Given the description of an element on the screen output the (x, y) to click on. 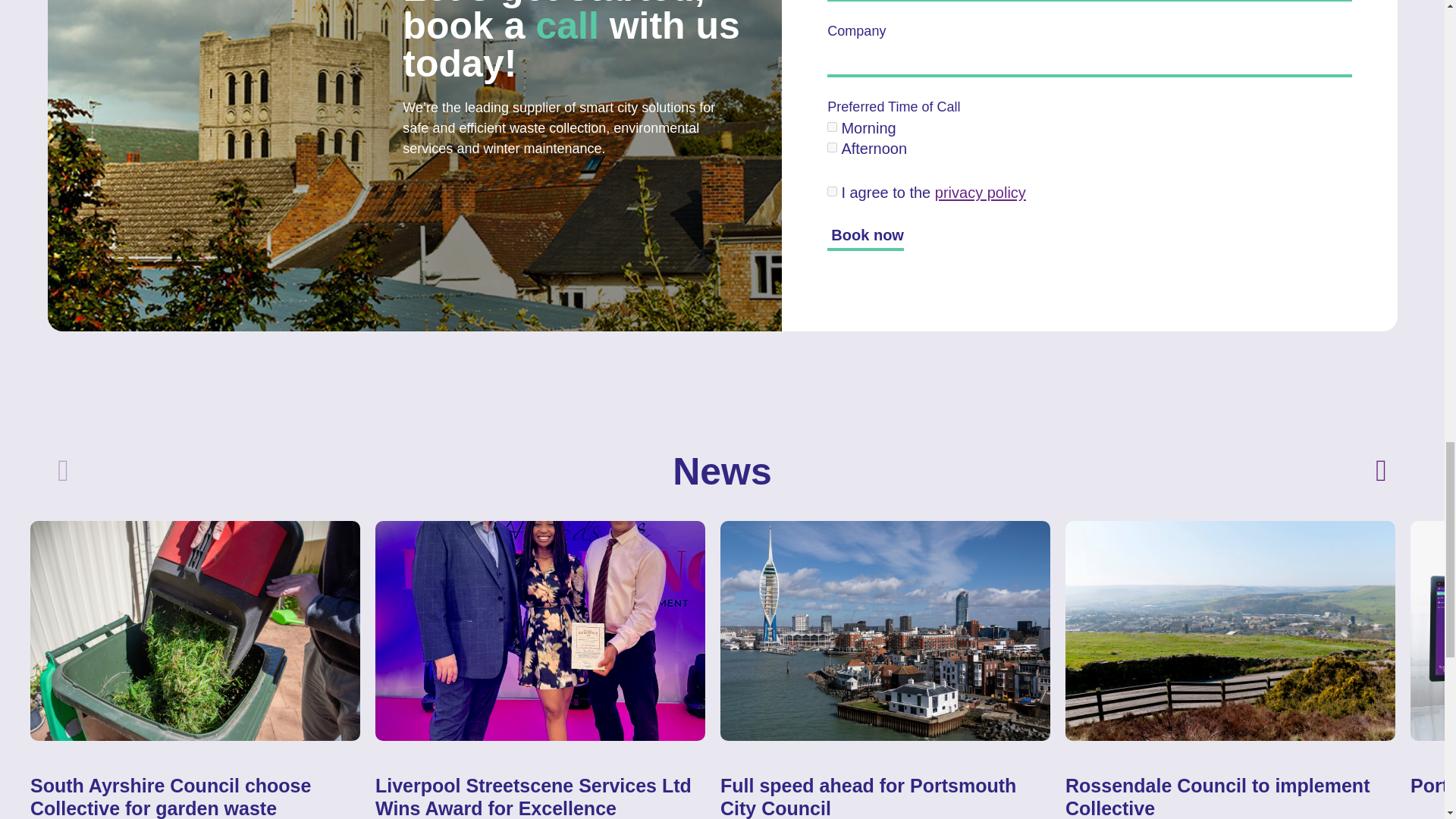
Afternoon (832, 147)
Morning (832, 126)
on (832, 191)
